Given the description of an element on the screen output the (x, y) to click on. 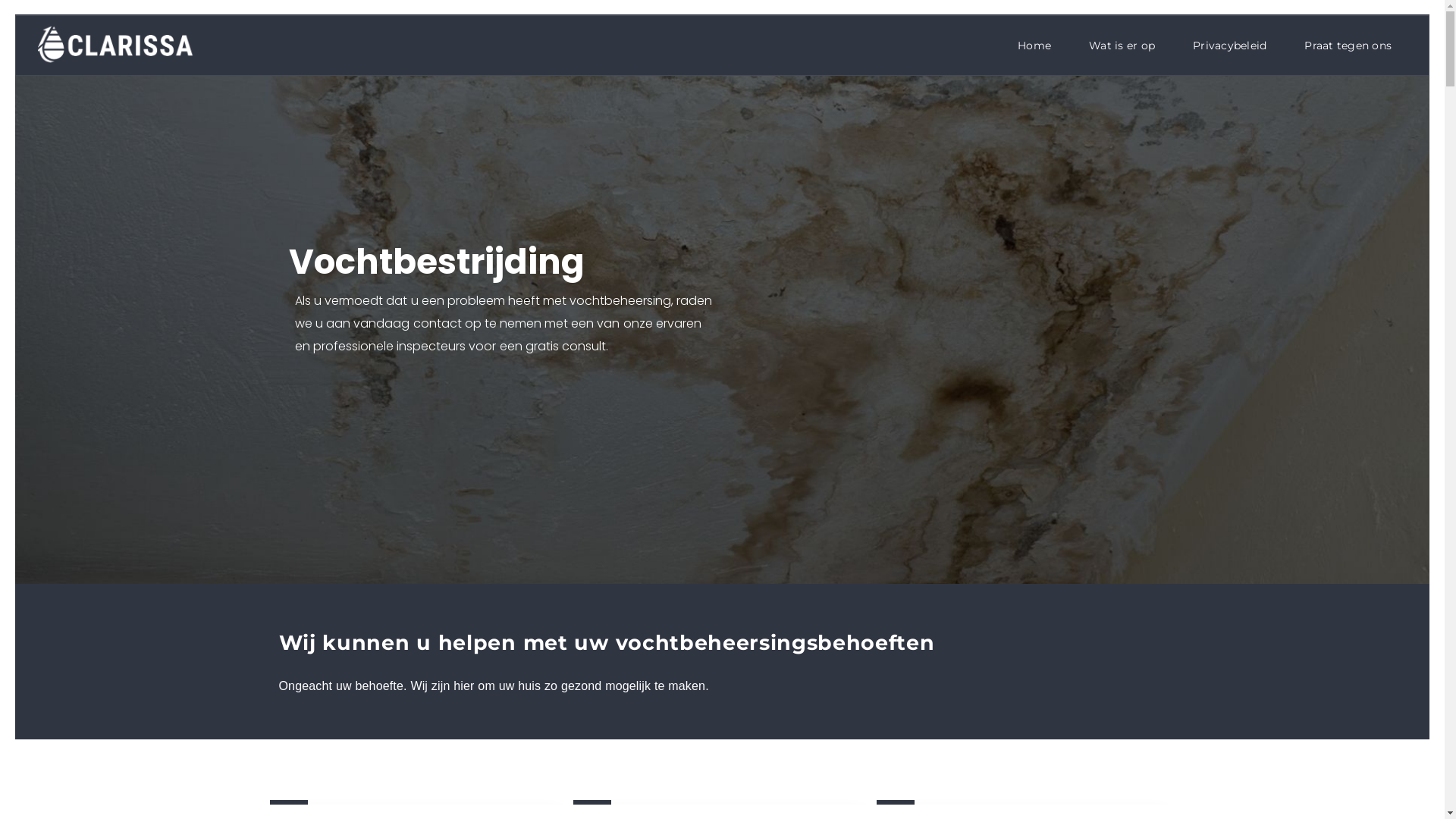
Wat is er op Element type: text (1121, 45)
Privacybeleid Element type: text (1229, 45)
Home Element type: text (1034, 45)
Praat tegen ons Element type: text (1347, 45)
